Given the description of an element on the screen output the (x, y) to click on. 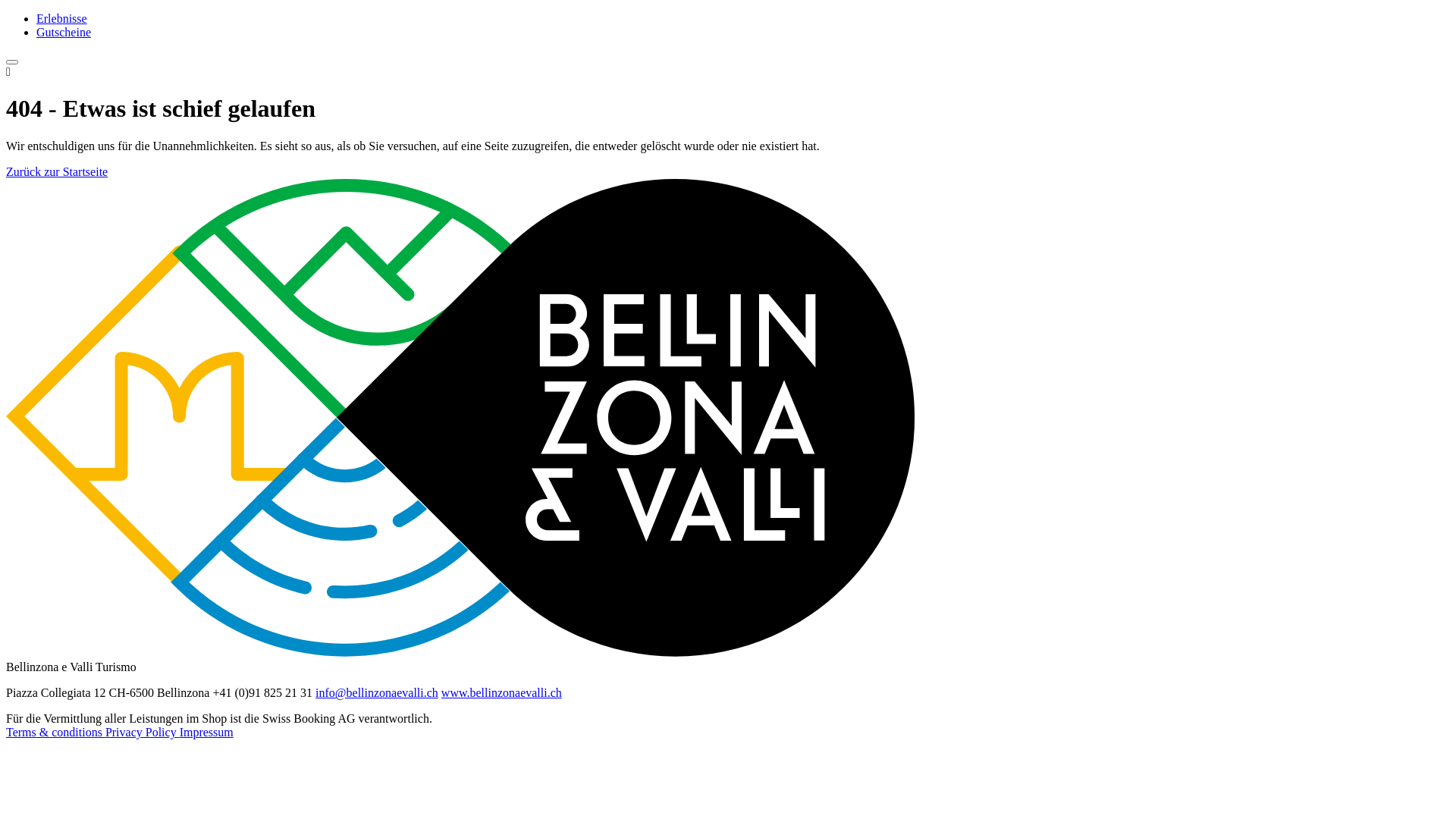
info@bellinzonaevalli.ch Element type: text (376, 692)
Terms & conditions Element type: text (55, 731)
www.bellinzonaevalli.ch Element type: text (501, 692)
Gutscheine Element type: text (742, 32)
Warenkorb Element type: hover (727, 57)
Impressum Element type: text (206, 731)
Privacy Policy Element type: text (142, 731)
Erlebnisse Element type: text (742, 18)
